Given the description of an element on the screen output the (x, y) to click on. 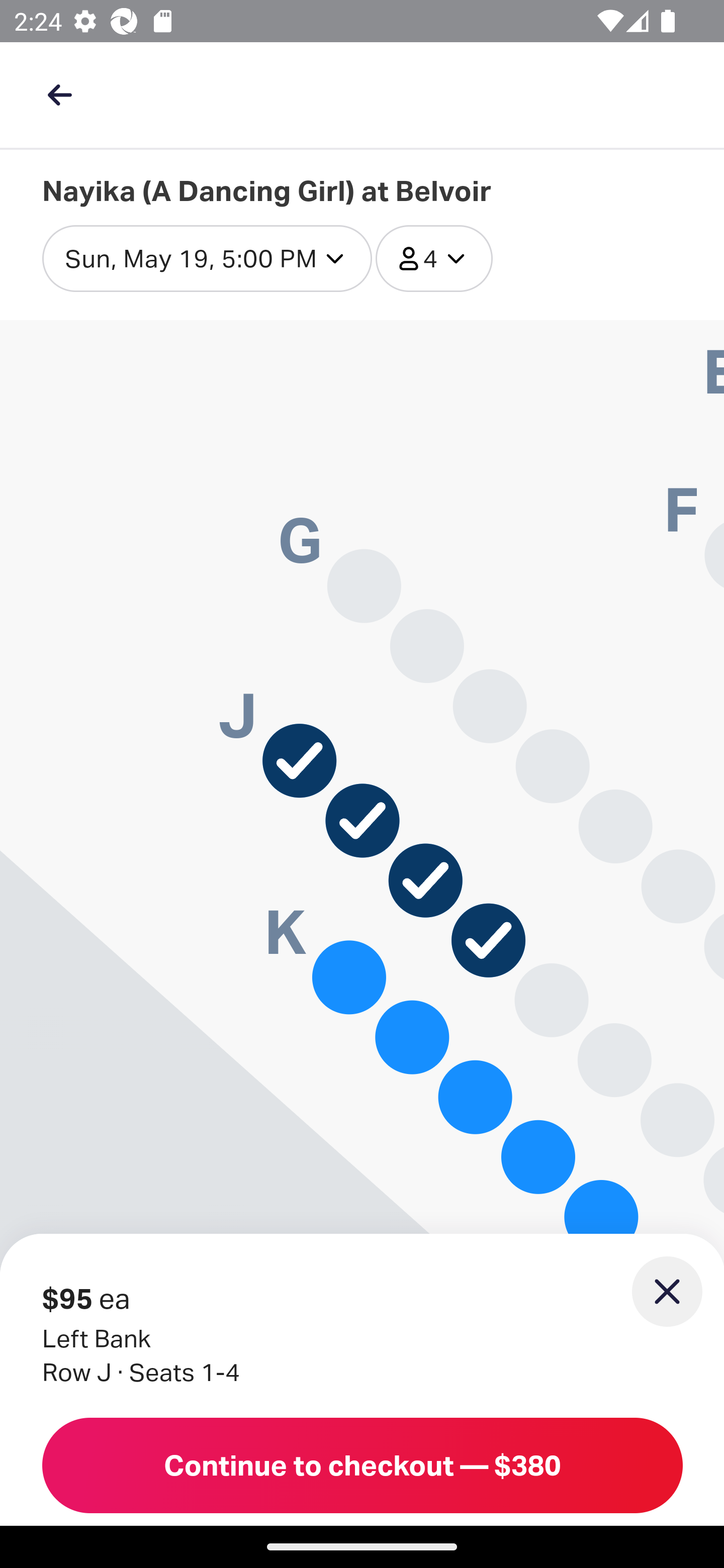
back button (59, 94)
Sun, May 19, 5:00 PM (206, 259)
4 (434, 259)
